Given the description of an element on the screen output the (x, y) to click on. 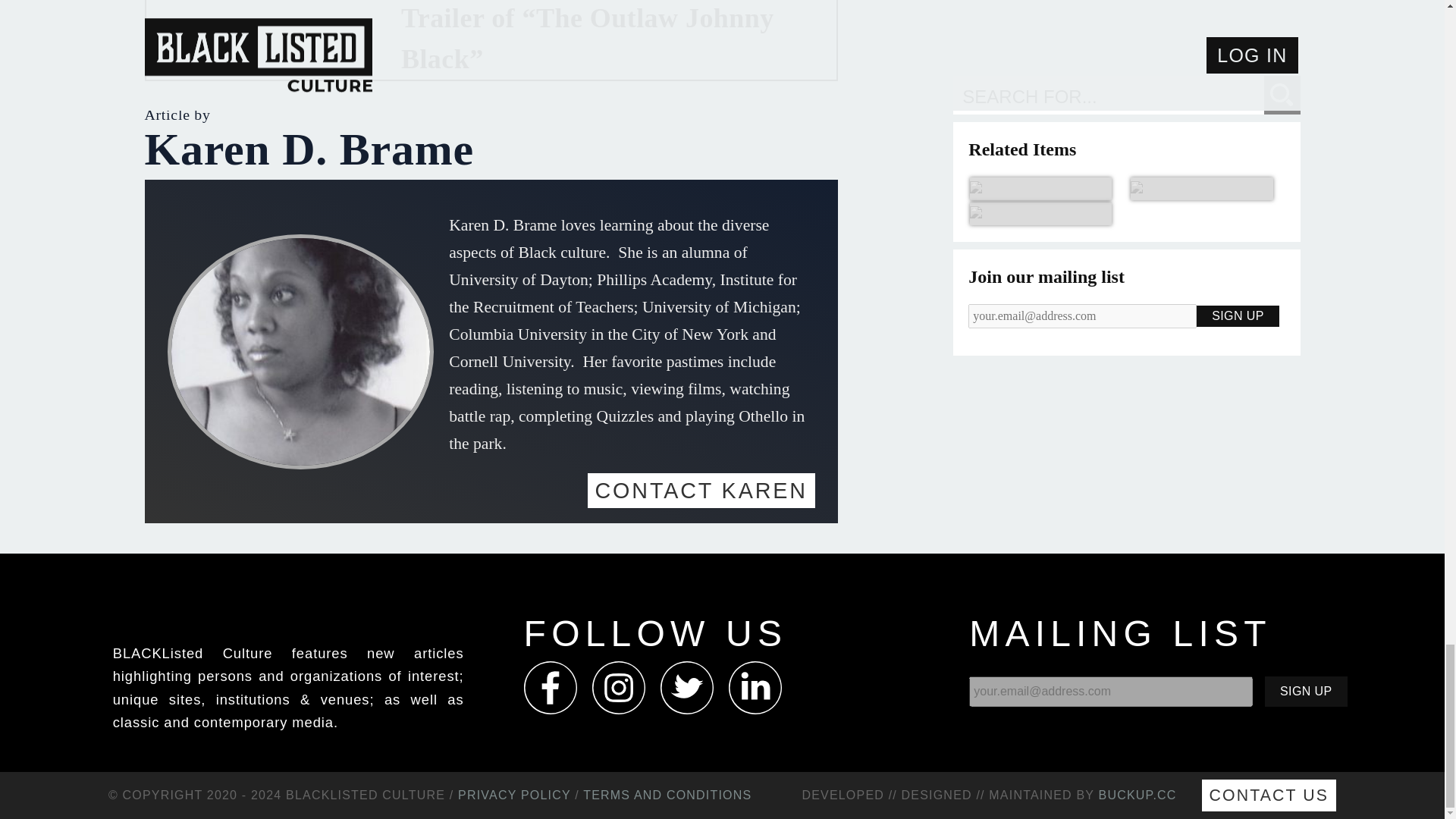
Sign Up (1306, 691)
TERMS AND CONDITIONS (667, 794)
Follow us on Facebook (550, 687)
Sign Up (1306, 691)
Follow us on Instagram (618, 687)
visit buckup creative concepts (1137, 794)
Follow us on Twitter (686, 687)
Follow us on Linkedin (754, 687)
BUCKUP.CC (1137, 794)
CONTACT KAREN (699, 490)
PRIVACY POLICY (514, 794)
CONTACT US (1269, 795)
